Given the description of an element on the screen output the (x, y) to click on. 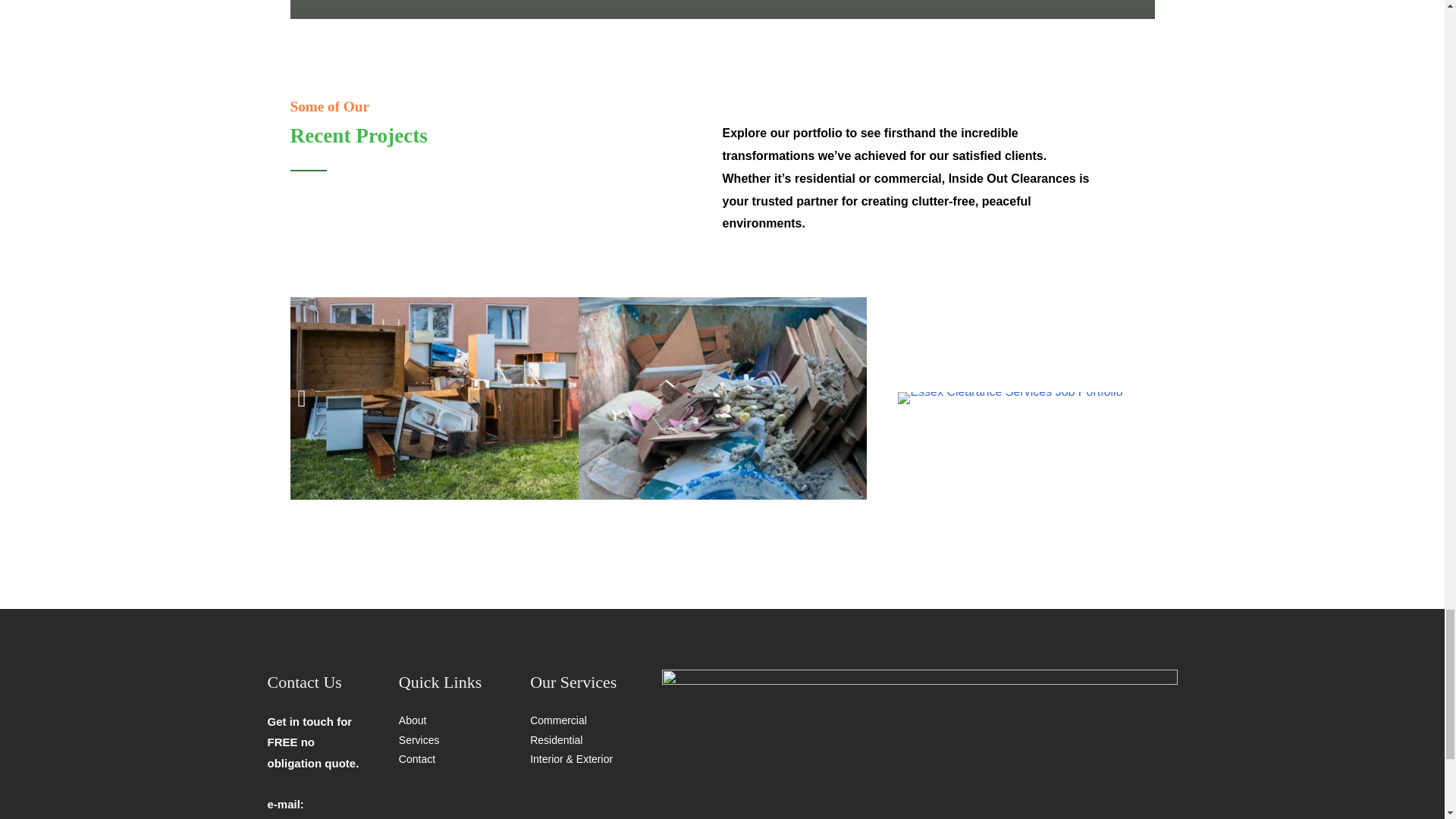
Services (418, 739)
About (412, 720)
Contact (416, 758)
Residential (555, 739)
Commercial (557, 720)
